Given the description of an element on the screen output the (x, y) to click on. 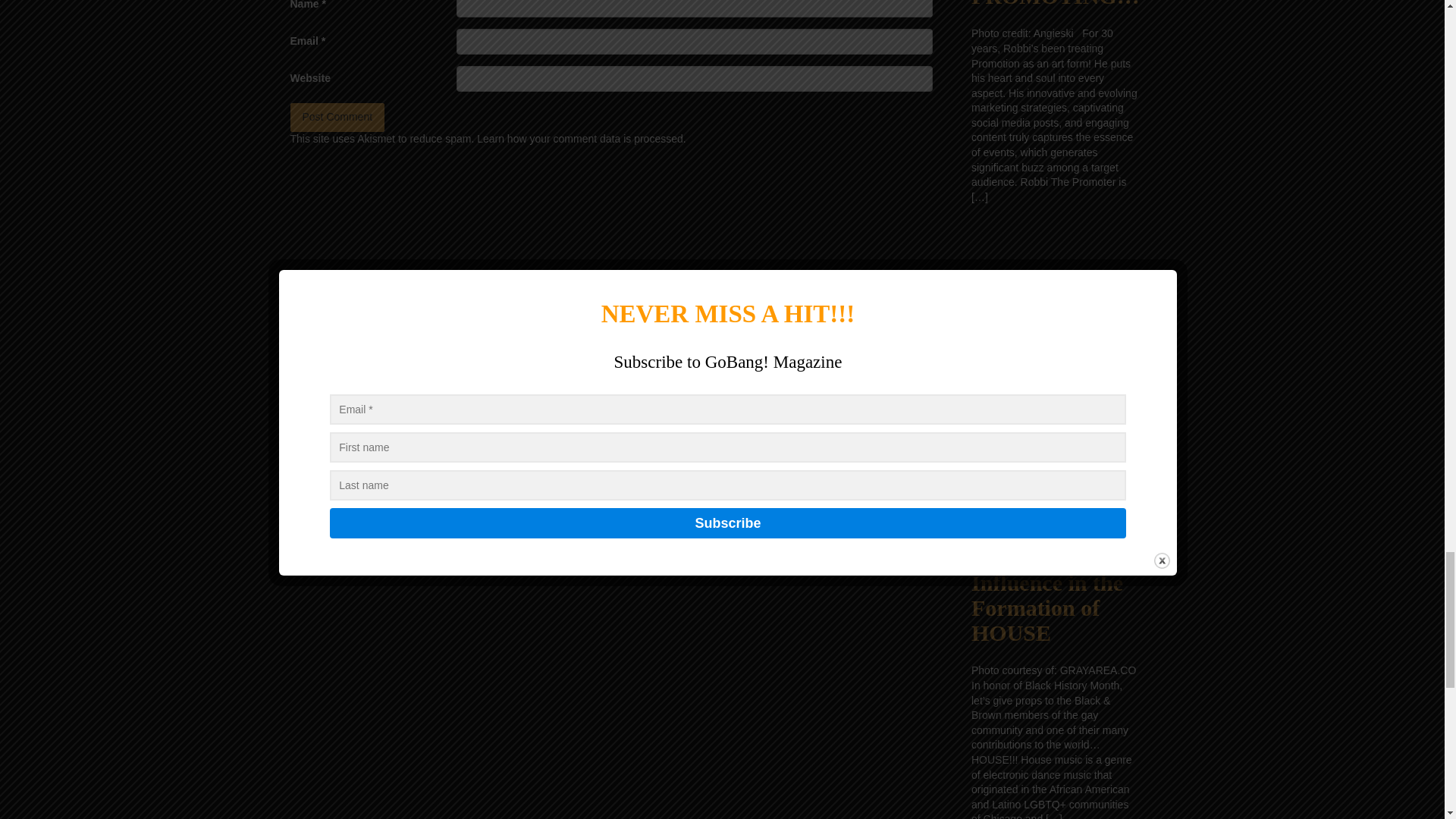
Post Comment (336, 117)
